Given the description of an element on the screen output the (x, y) to click on. 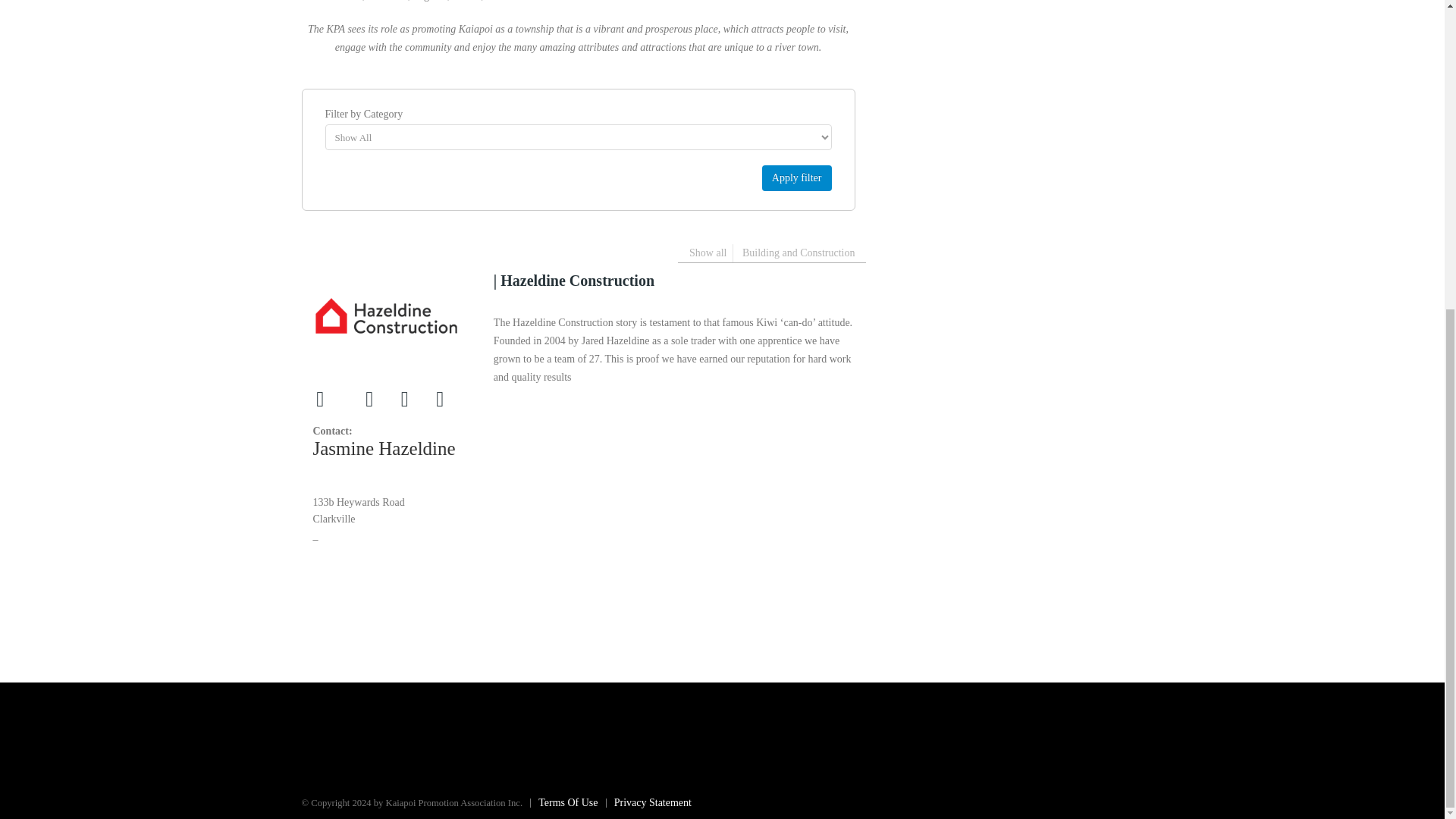
Terms Of Use (560, 802)
Building and Construction (799, 252)
Apply filter (796, 177)
Show all (707, 252)
Apply filter (796, 177)
Privacy Statement (645, 802)
